Given the description of an element on the screen output the (x, y) to click on. 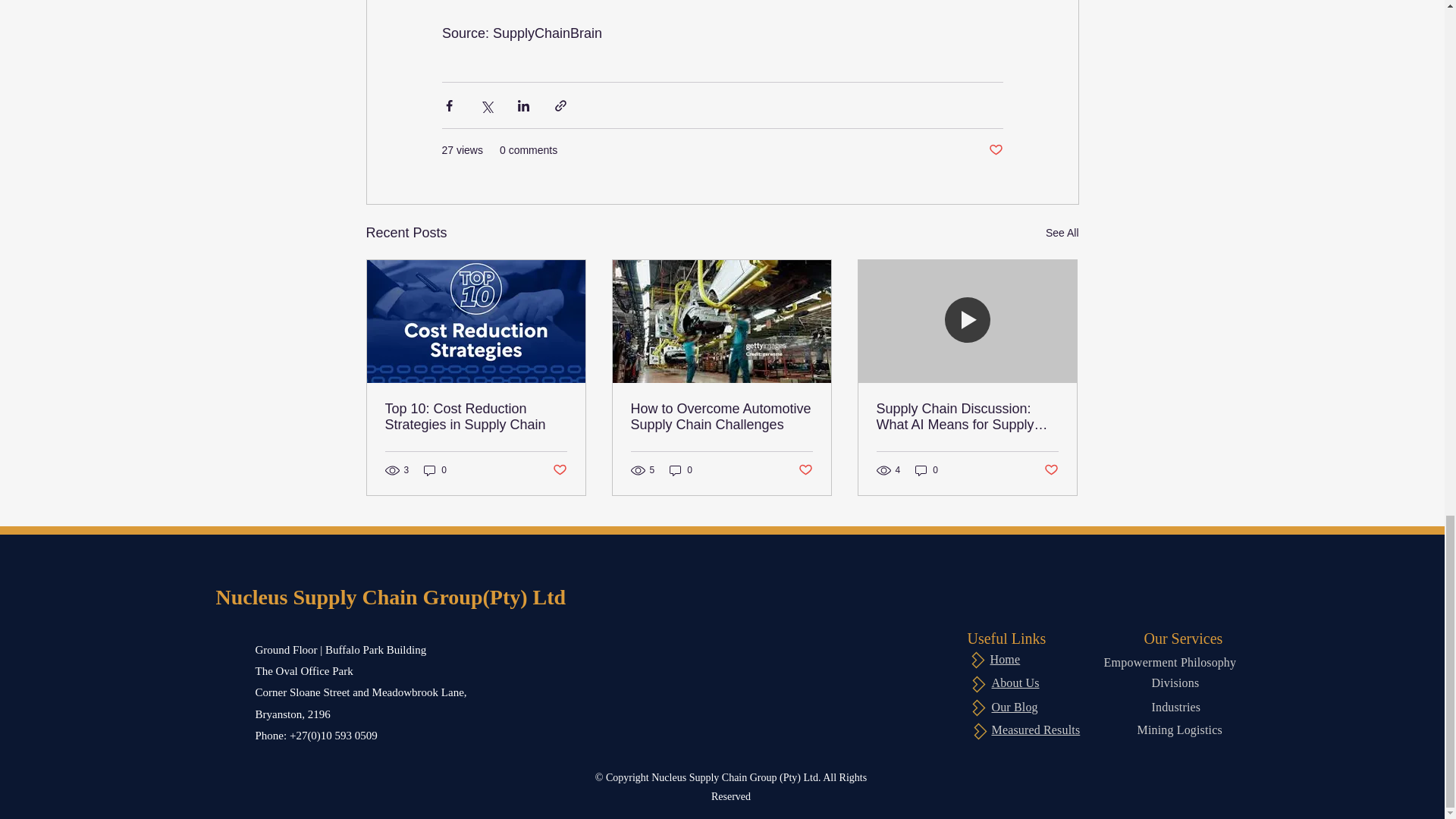
How to Overcome Automotive Supply Chain Challenges (721, 417)
Post not marked as liked (804, 470)
Post not marked as liked (1050, 470)
0 (926, 470)
Home (1005, 658)
Top 10: Cost Reduction Strategies in Supply Chain (476, 417)
0 (435, 470)
Post not marked as liked (995, 150)
Our Blog (1014, 707)
Post not marked as liked (558, 470)
